Given the description of an element on the screen output the (x, y) to click on. 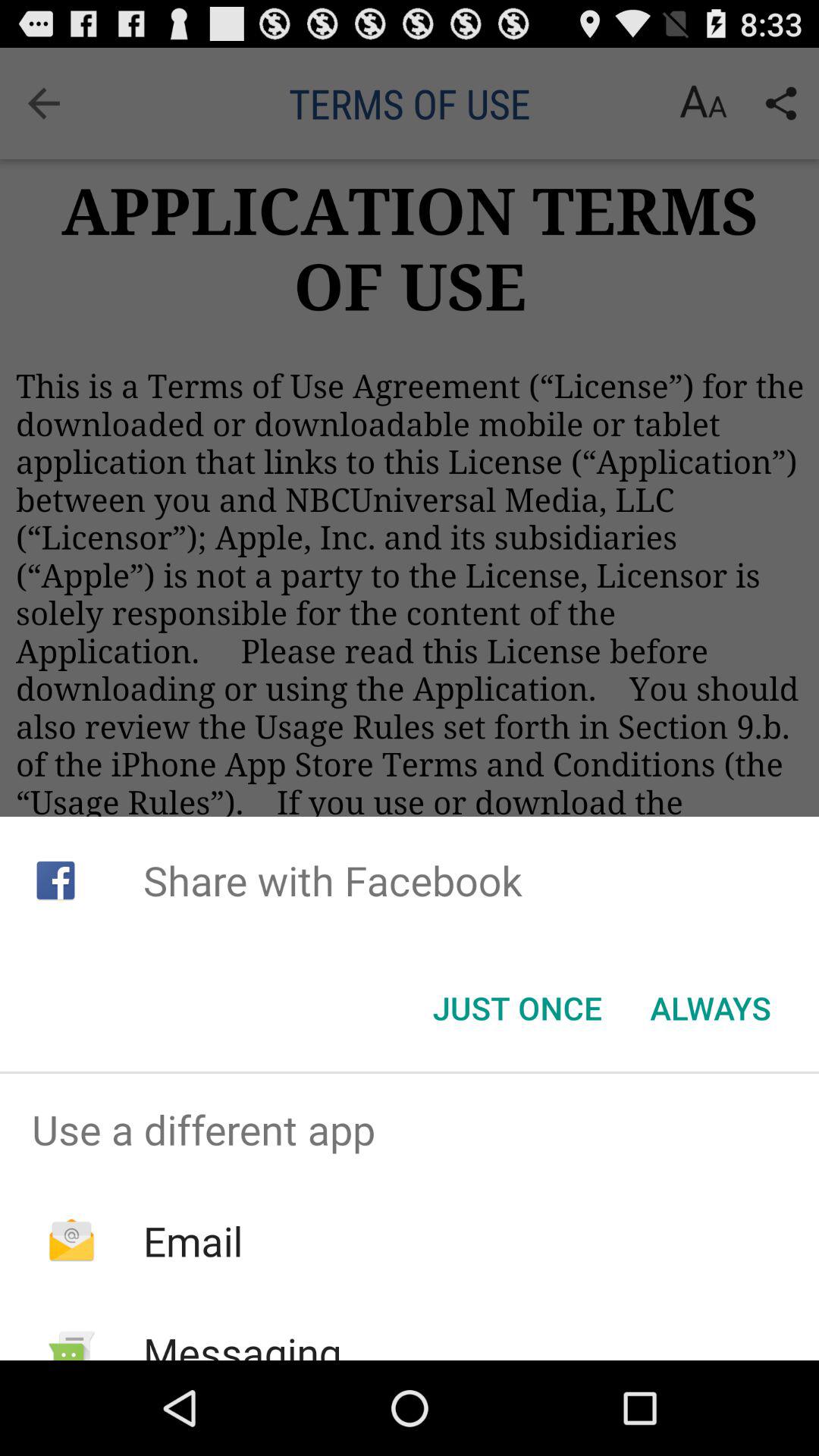
launch icon at the bottom right corner (710, 1007)
